Given the description of an element on the screen output the (x, y) to click on. 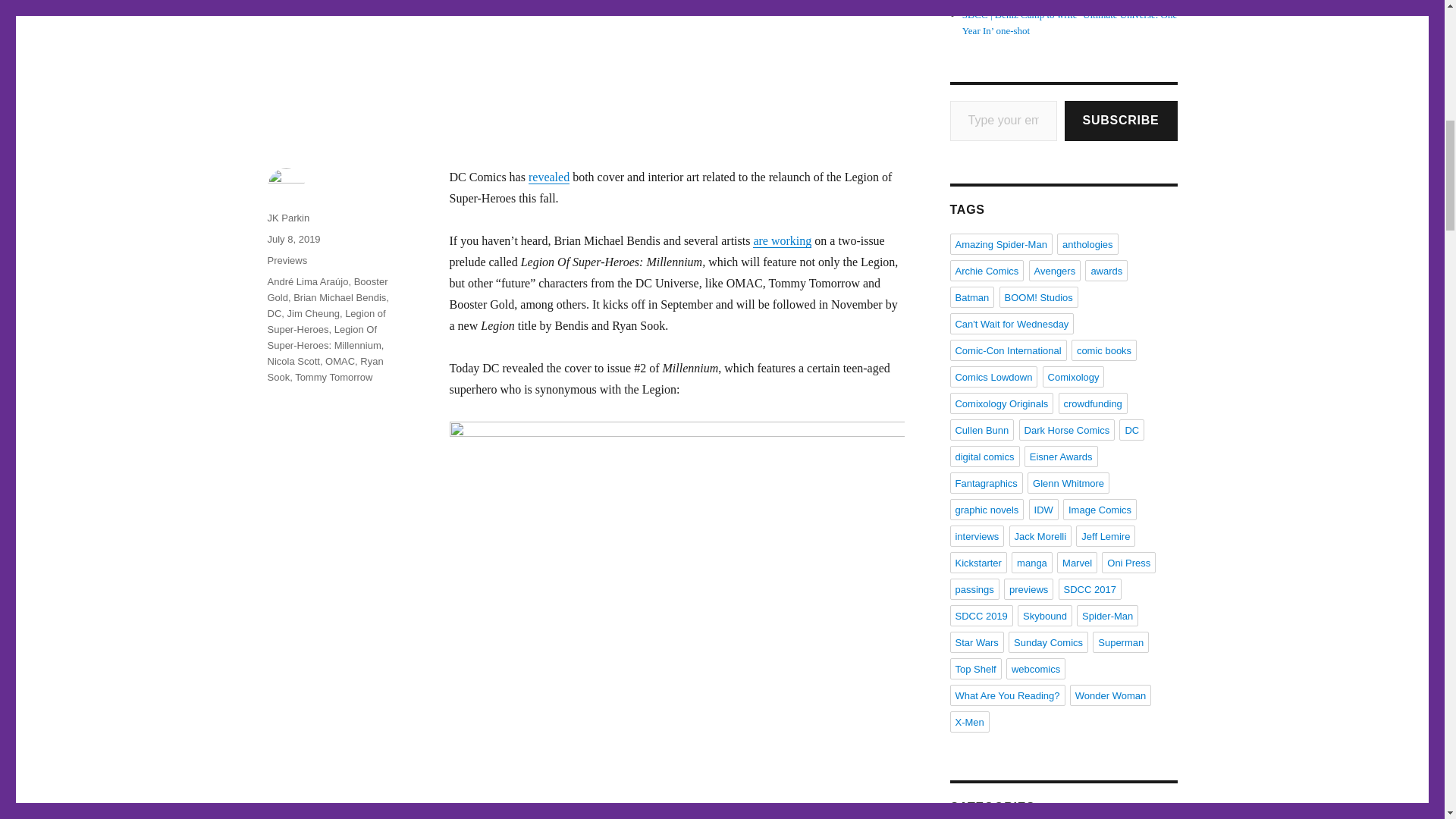
Nicola Scott (292, 360)
DC (273, 313)
Please fill in this field. (1003, 120)
Brian Michael Bendis (339, 297)
Ryan Sook (324, 369)
Tommy Tomorrow (333, 377)
July 8, 2019 (293, 238)
Previews (286, 260)
OMAC (339, 360)
Booster Gold (326, 289)
Legion Of Super-Heroes: Millennium (323, 337)
are working (781, 240)
Jim Cheung (312, 313)
Legion of Super-Heroes (325, 320)
JK Parkin (287, 217)
